Given the description of an element on the screen output the (x, y) to click on. 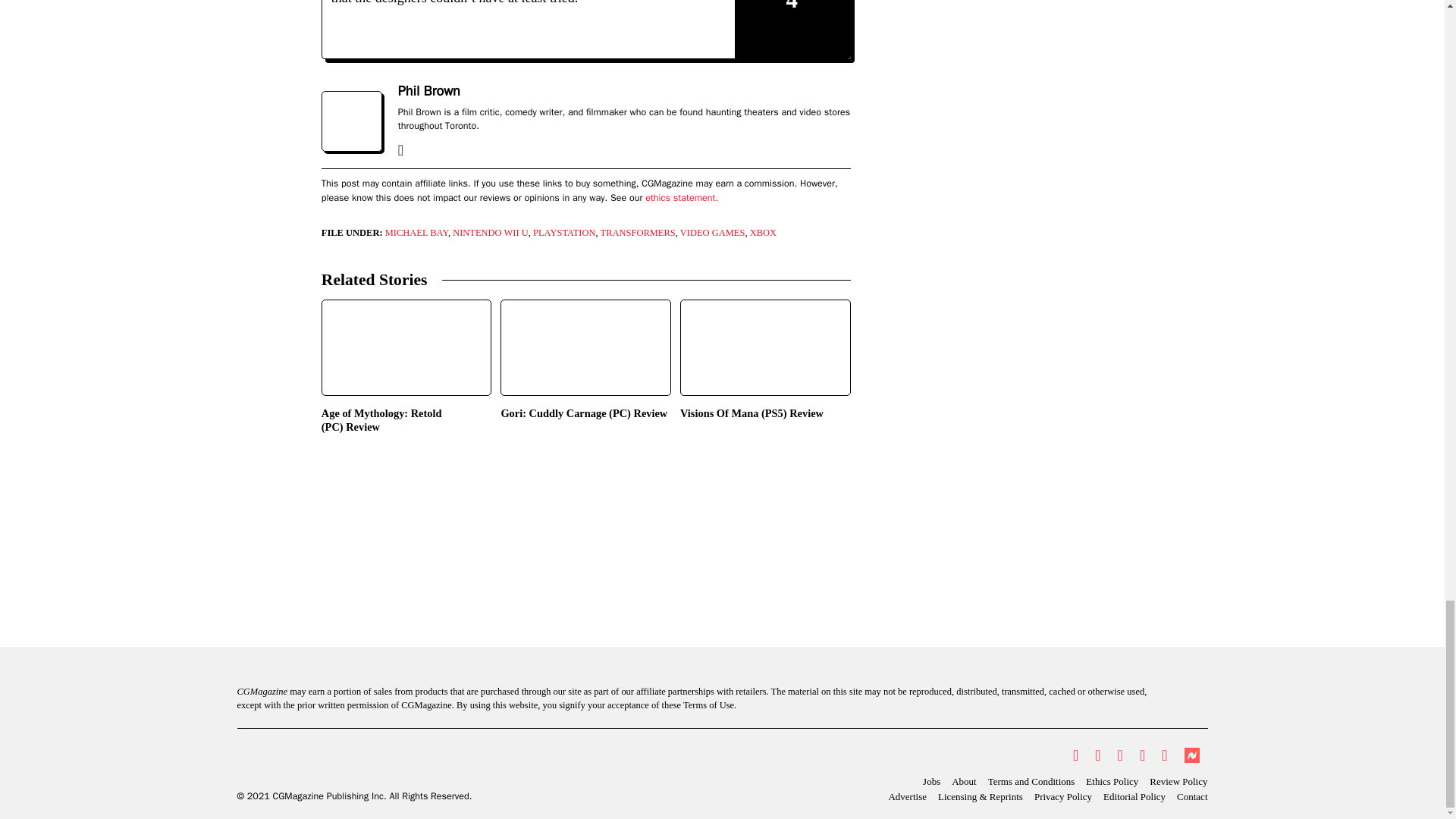
CGMagazine (353, 762)
NewsBreak (1190, 754)
YouTube Page (1142, 754)
Facebook Page (1097, 754)
Twitter Profile (1075, 754)
Instagram Profile (1120, 754)
Flipboard Page (1163, 754)
Phil Brown (428, 91)
